Given the description of an element on the screen output the (x, y) to click on. 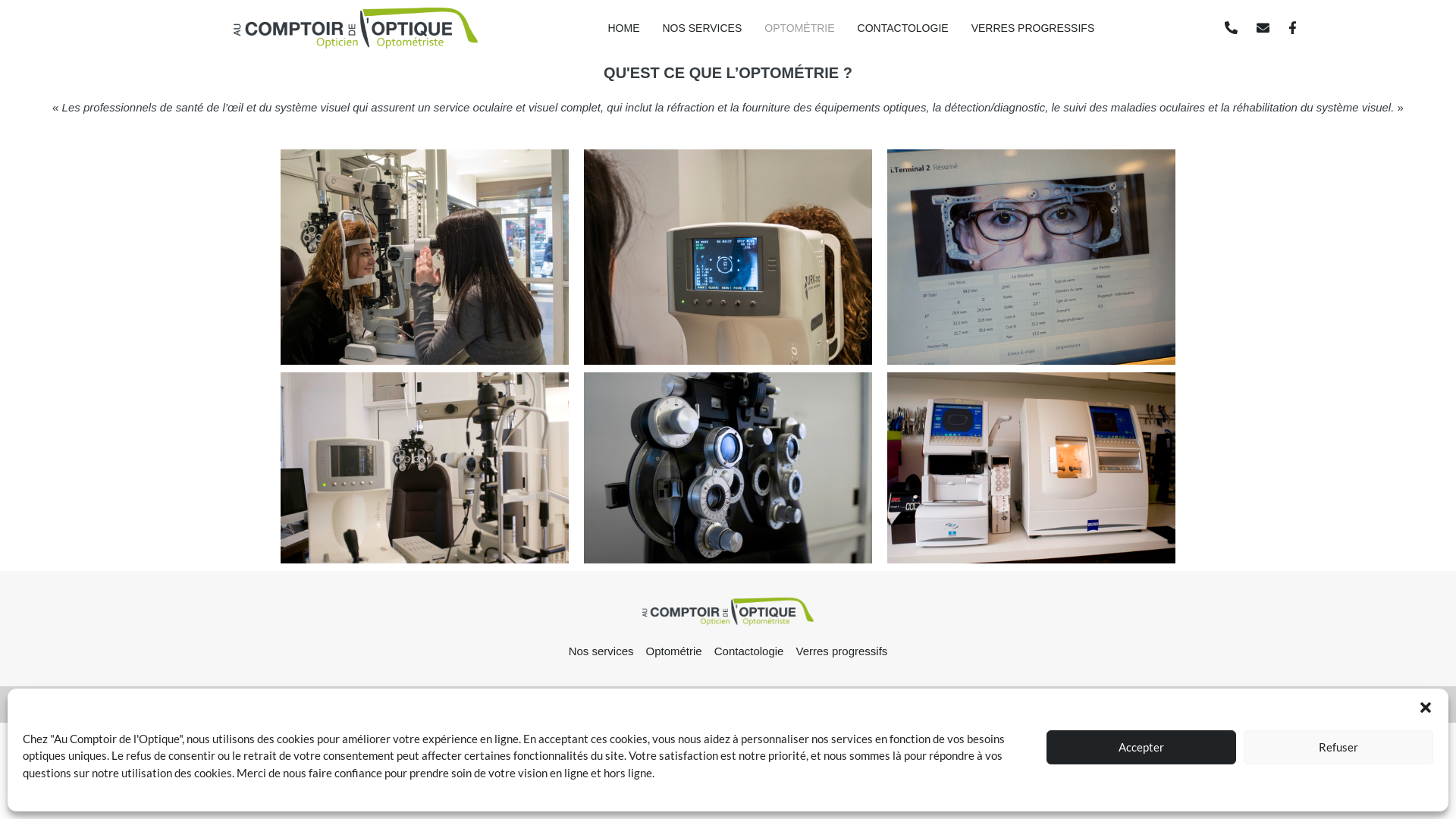
VERRES PROGRESSIFS Element type: text (1033, 27)
Accepter Element type: text (1141, 746)
NOS SERVICES Element type: text (701, 27)
Contactologie Element type: text (749, 651)
Refuser Element type: text (1338, 746)
CONTACTOLOGIE Element type: text (903, 27)
HOME Element type: text (623, 27)
Nos services Element type: text (600, 651)
Verres progressifs Element type: text (841, 651)
